Given the description of an element on the screen output the (x, y) to click on. 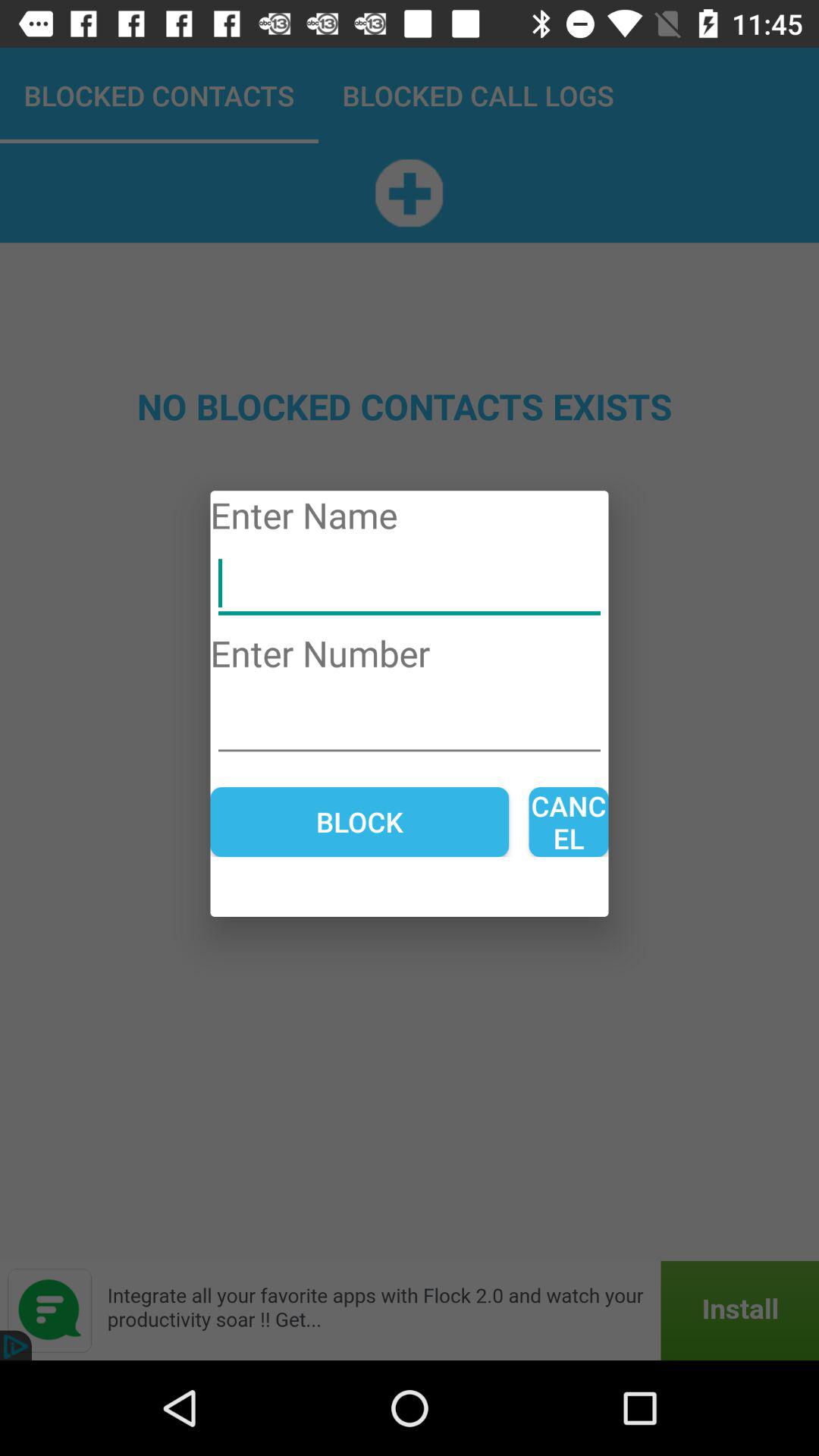
enter your name here (409, 584)
